Given the description of an element on the screen output the (x, y) to click on. 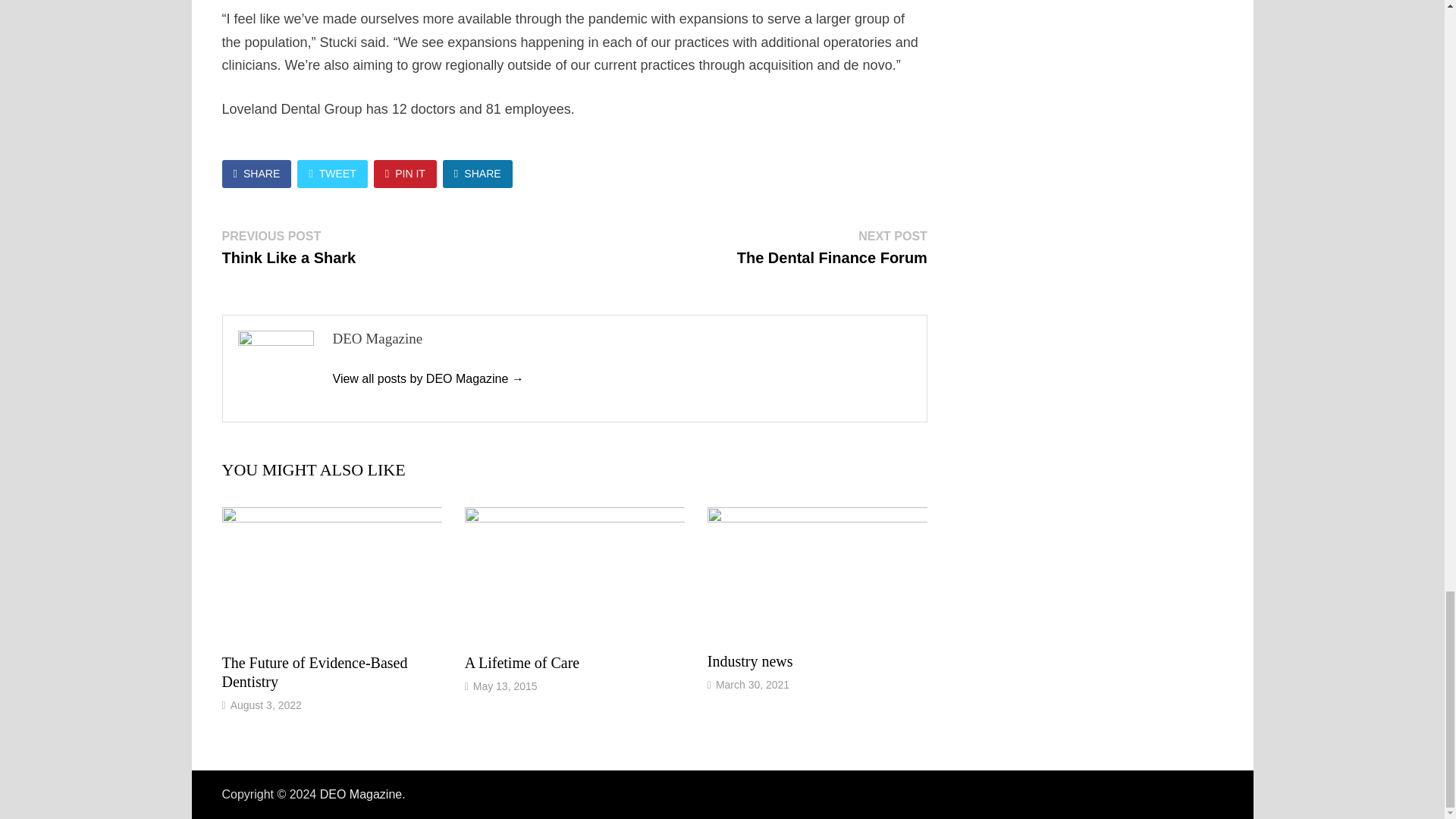
DEO Magazine (361, 793)
A Lifetime of Care (521, 662)
DEO Magazine (426, 378)
Industry news (750, 660)
The Future of Evidence-Based Dentistry (314, 672)
